Given the description of an element on the screen output the (x, y) to click on. 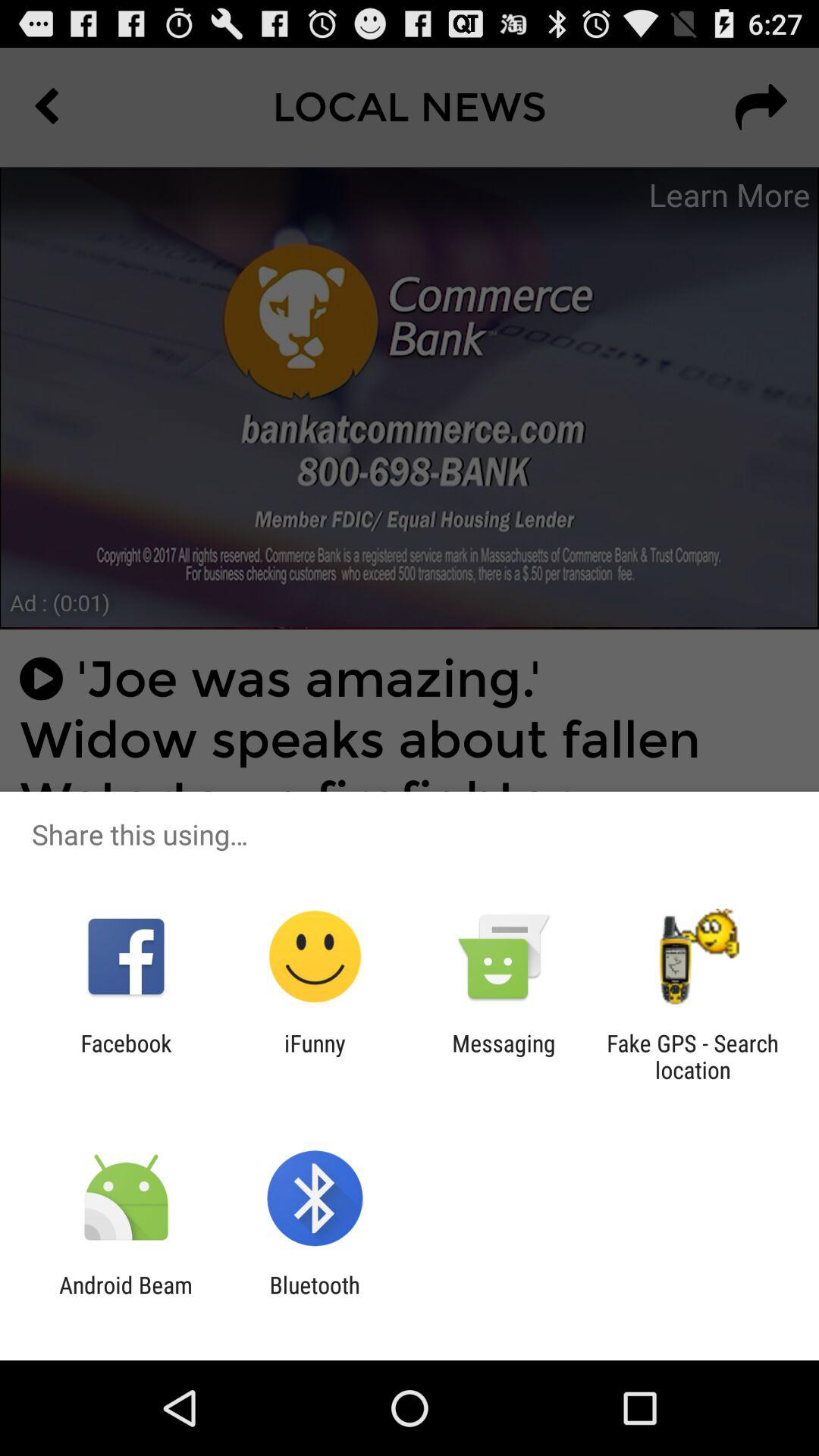
choose icon to the left of messaging icon (314, 1056)
